Given the description of an element on the screen output the (x, y) to click on. 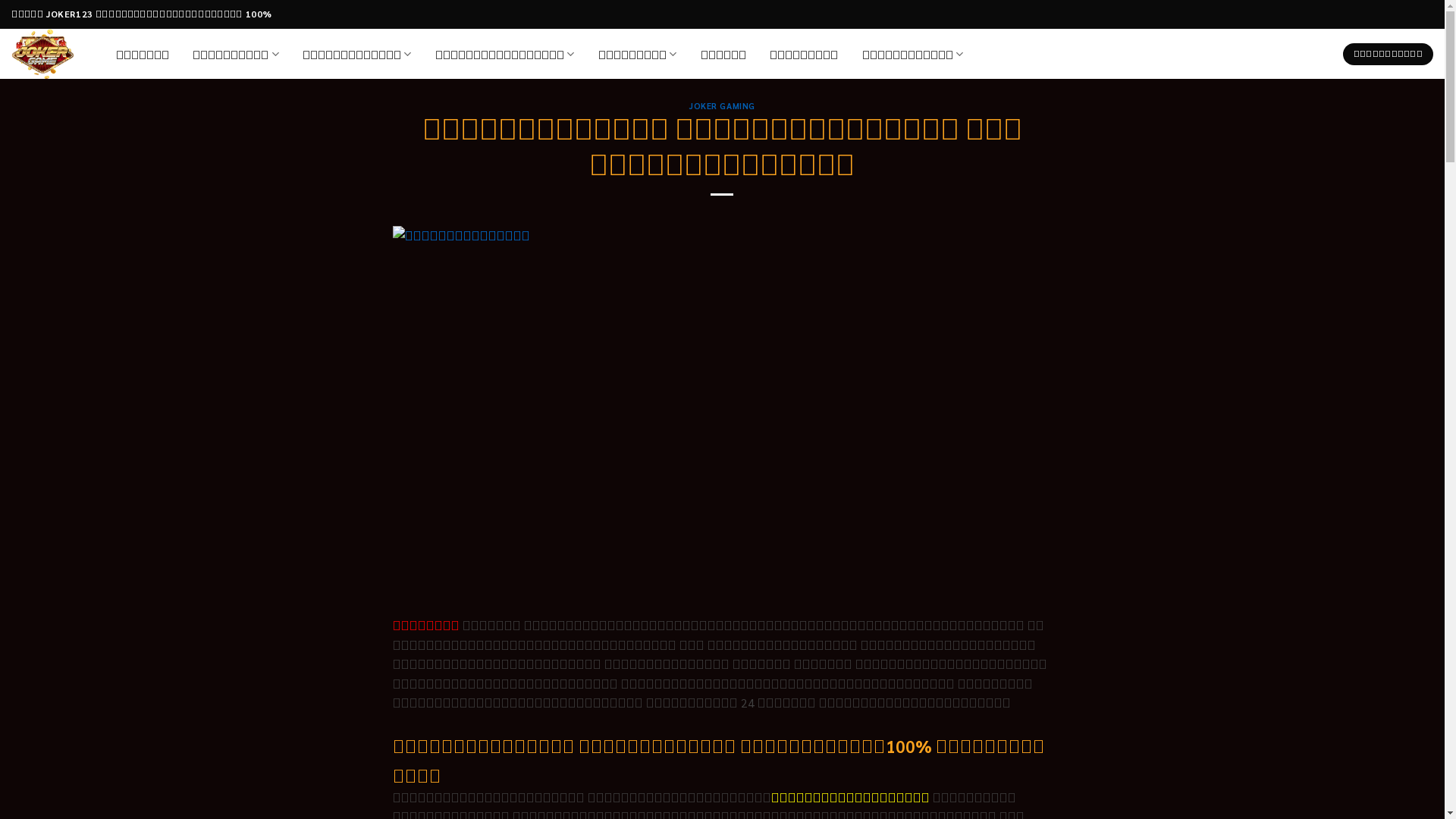
JOKER GAMING Element type: text (722, 105)
Skip to content Element type: text (0, 0)
